Given the description of an element on the screen output the (x, y) to click on. 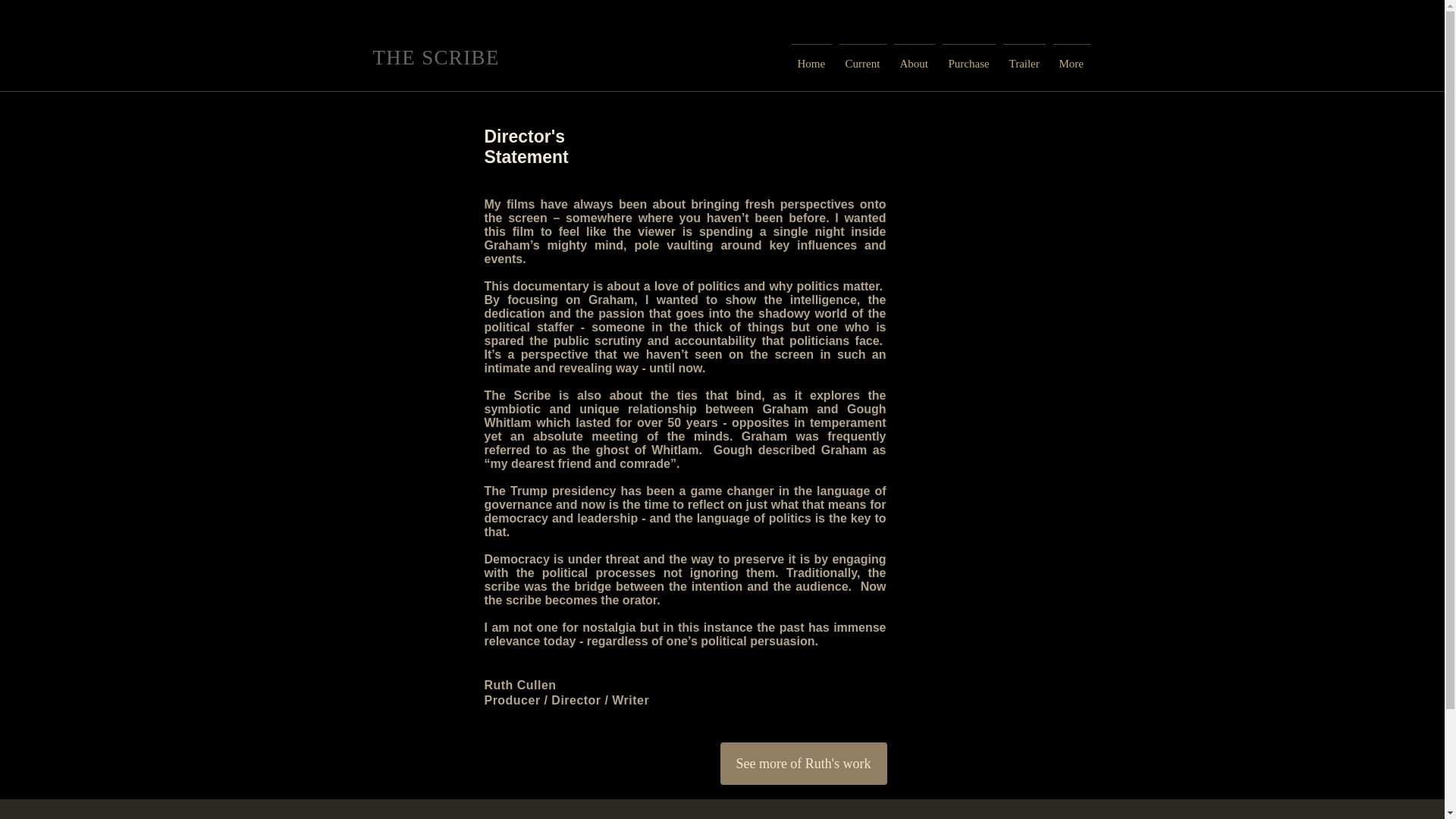
Home (810, 57)
Trailer (1023, 57)
See more of Ruth's work (803, 763)
Purchase (968, 57)
Current (862, 57)
